Given the description of an element on the screen output the (x, y) to click on. 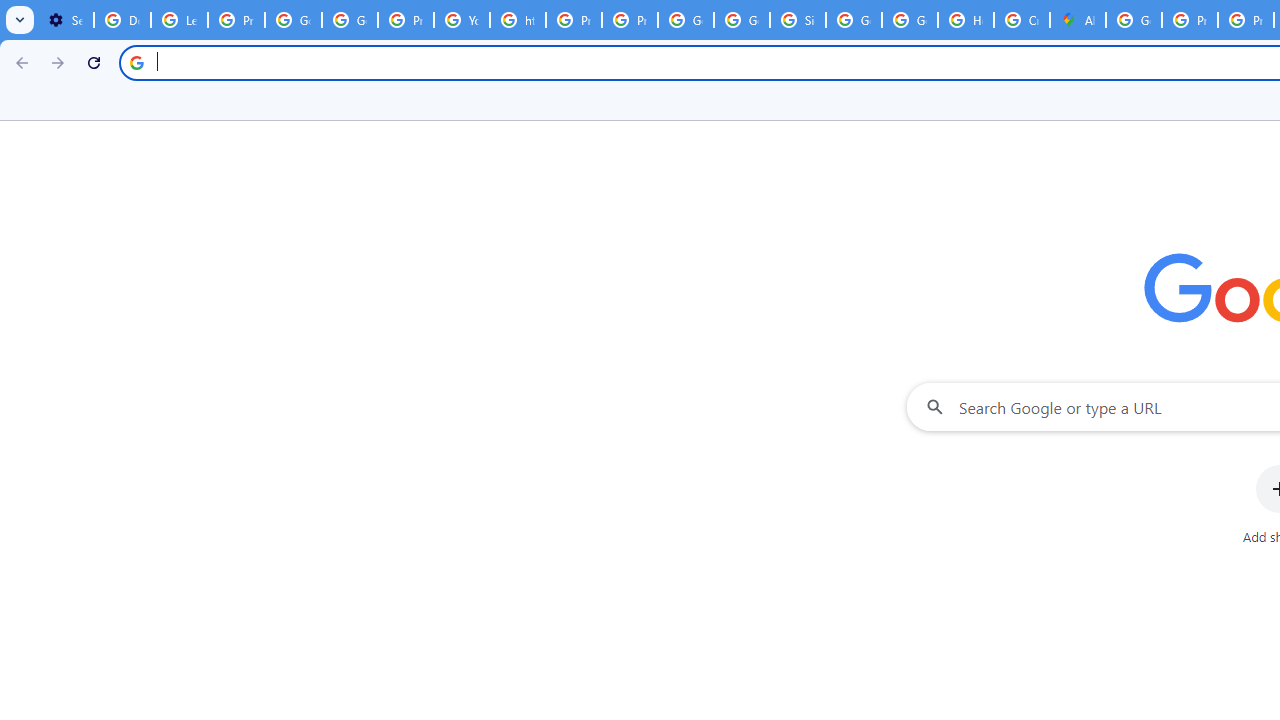
YouTube (461, 20)
Delete photos & videos - Computer - Google Photos Help (122, 20)
Google Account Help (293, 20)
Privacy Help Center - Policies Help (573, 20)
